Given the description of an element on the screen output the (x, y) to click on. 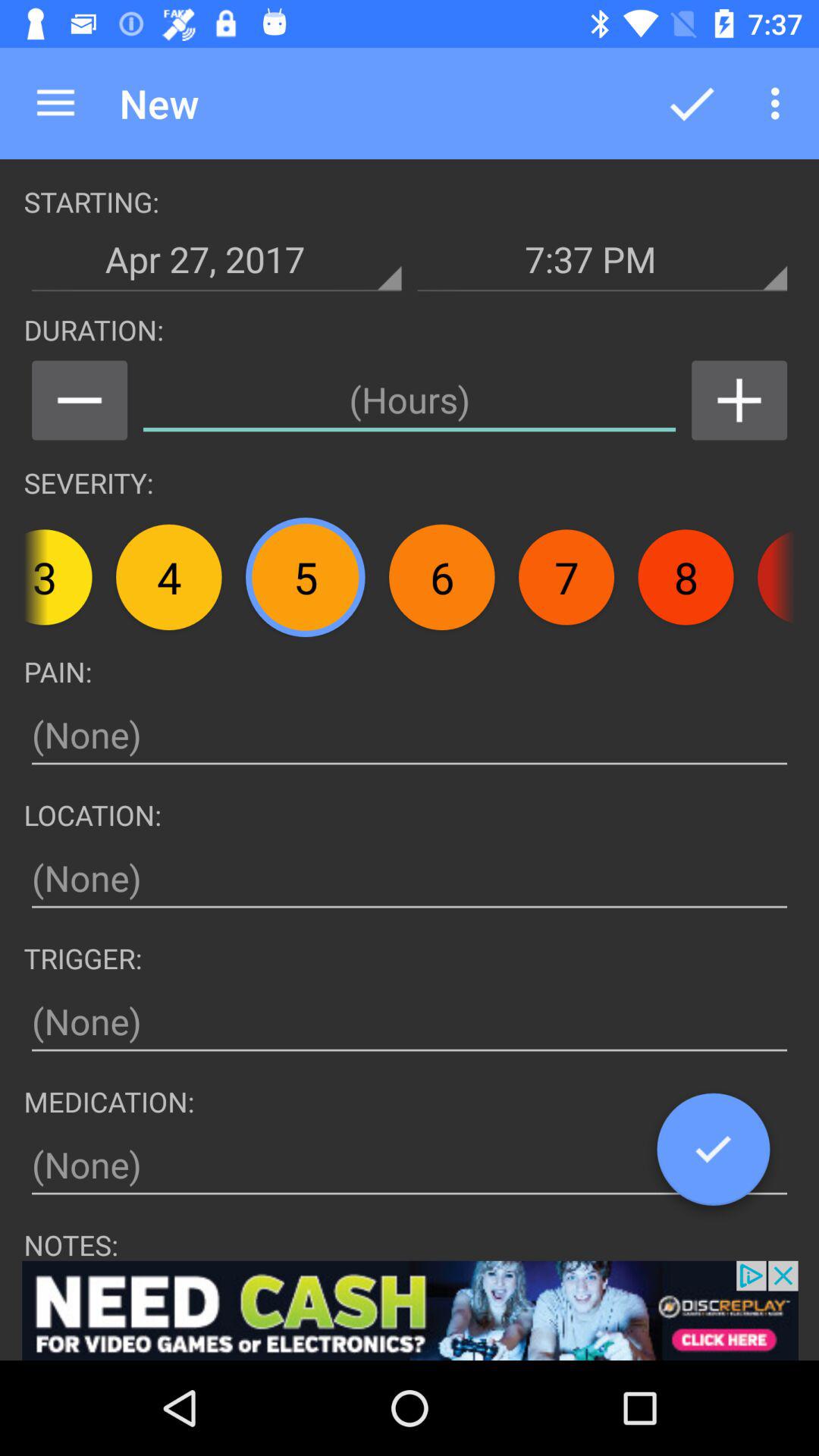
advertisement (409, 1310)
